Given the description of an element on the screen output the (x, y) to click on. 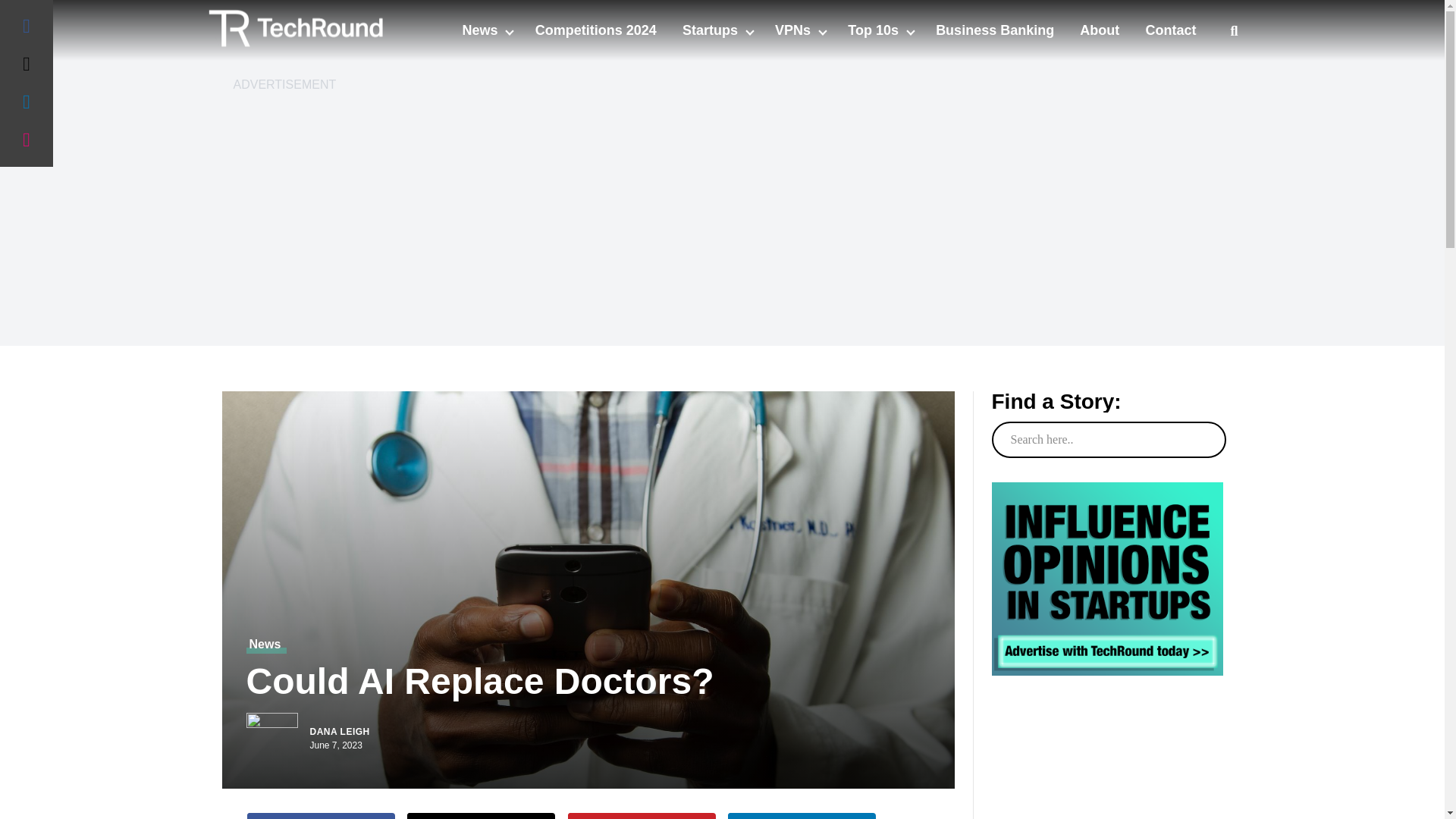
Save to Pinterest (641, 816)
Share on X (480, 816)
Share on Facebook (320, 816)
Share on LinkedIn (802, 816)
Advertisement (1107, 777)
